Given the description of an element on the screen output the (x, y) to click on. 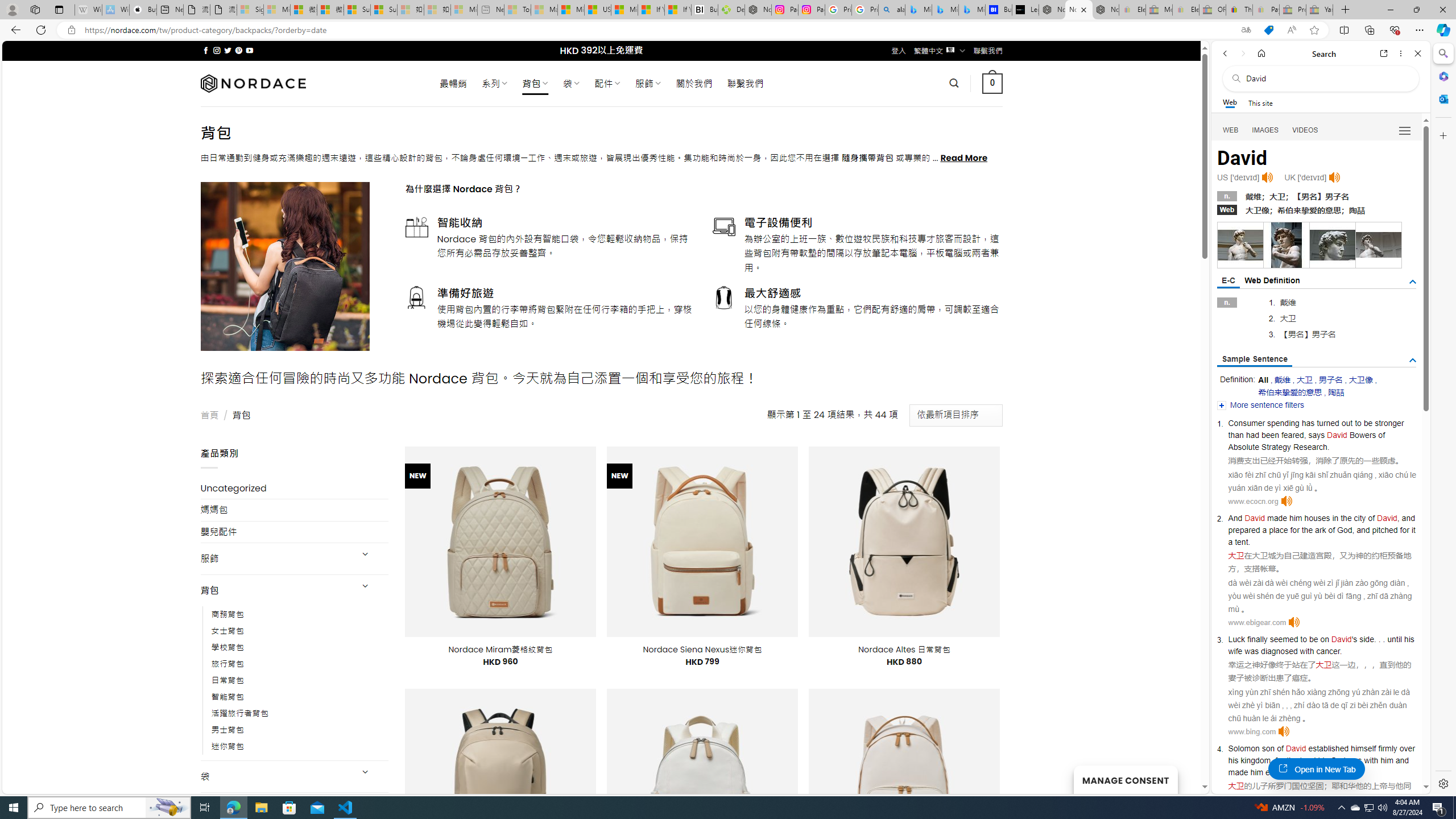
David (1295, 747)
Search Filter, WEB (1231, 129)
his (1408, 638)
spending (1283, 422)
AutomationID: emb3292B07DF (1377, 244)
New tab - Sleeping (491, 9)
